Given the description of an element on the screen output the (x, y) to click on. 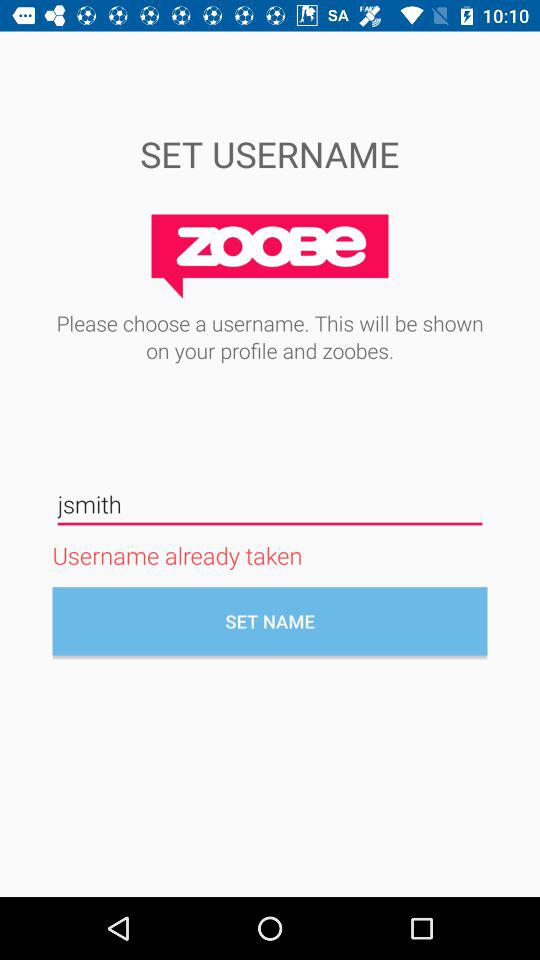
launch the icon below username already taken (269, 621)
